Given the description of an element on the screen output the (x, y) to click on. 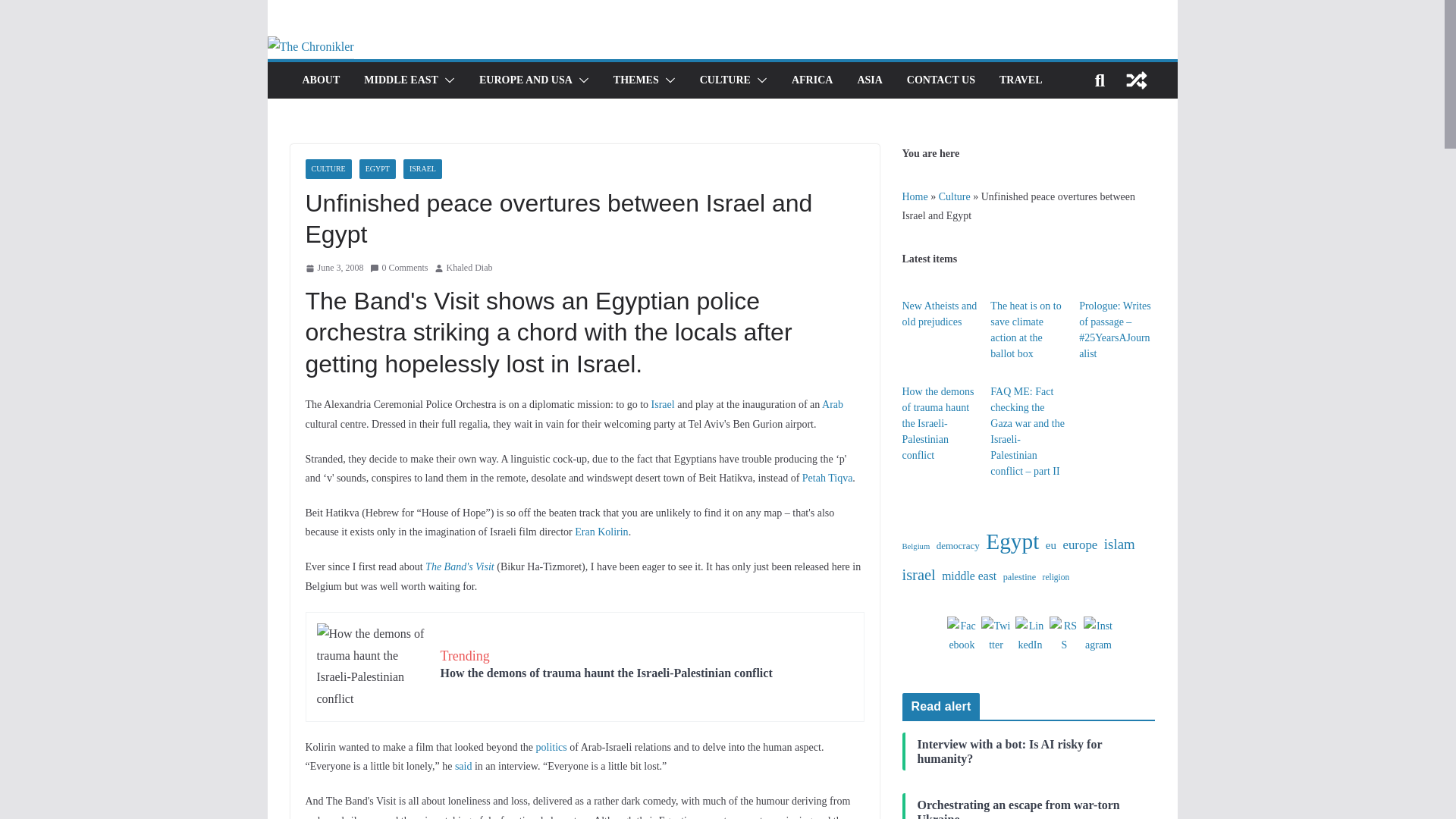
MIDDLE EAST (401, 79)
The Chronikler (309, 46)
Khaled Diab (469, 268)
View a random post (1136, 80)
18:32 (333, 268)
THEMES (635, 79)
ABOUT (320, 79)
Posts tagged with politics (551, 747)
Posts tagged with arab (832, 404)
EUROPE AND USA (525, 79)
CULTURE (725, 79)
